Given the description of an element on the screen output the (x, y) to click on. 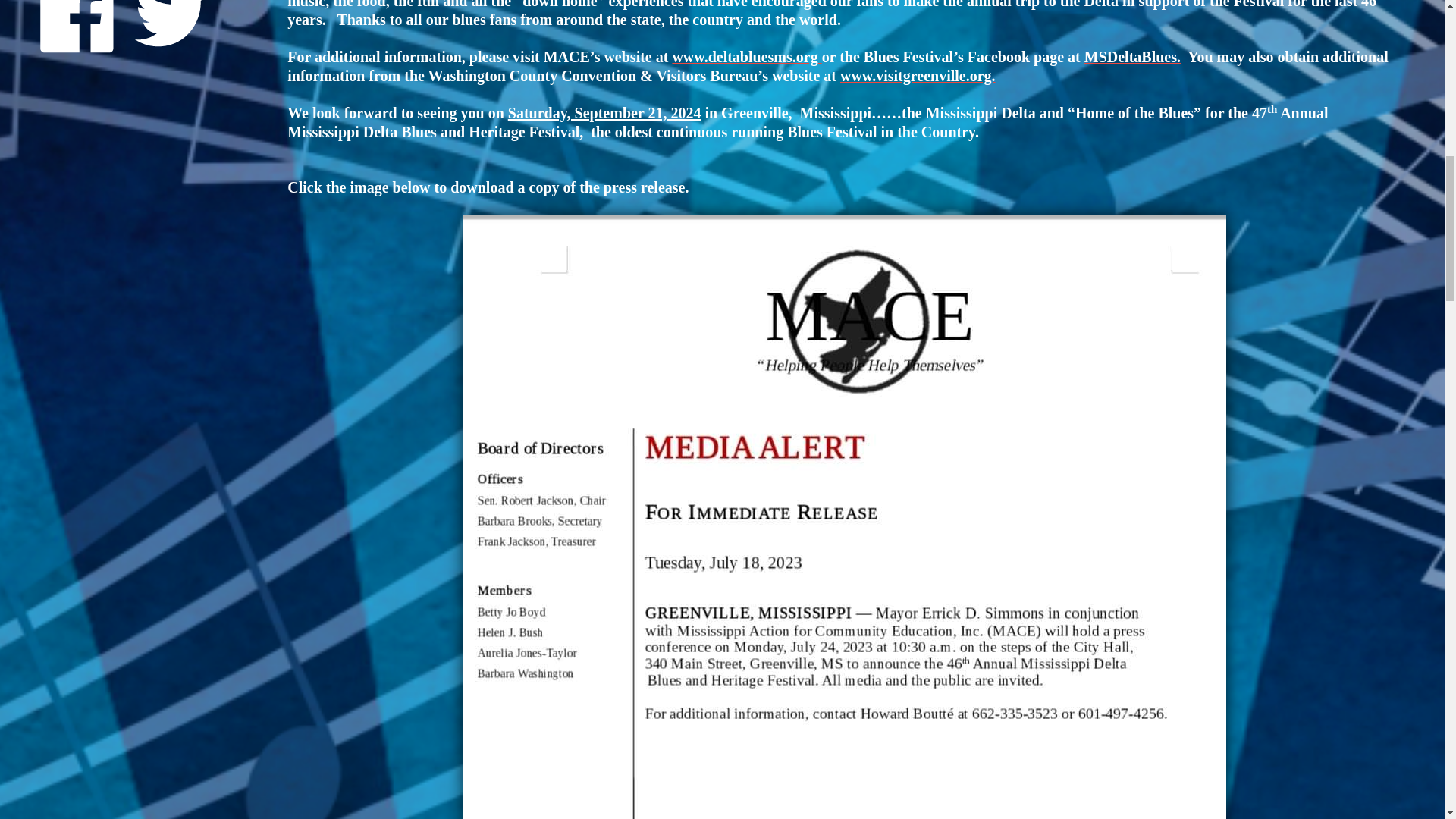
www.visitgreenville.org. (917, 75)
www.deltabluesms.org (746, 56)
MSDeltaBlues. (1132, 56)
